Given the description of an element on the screen output the (x, y) to click on. 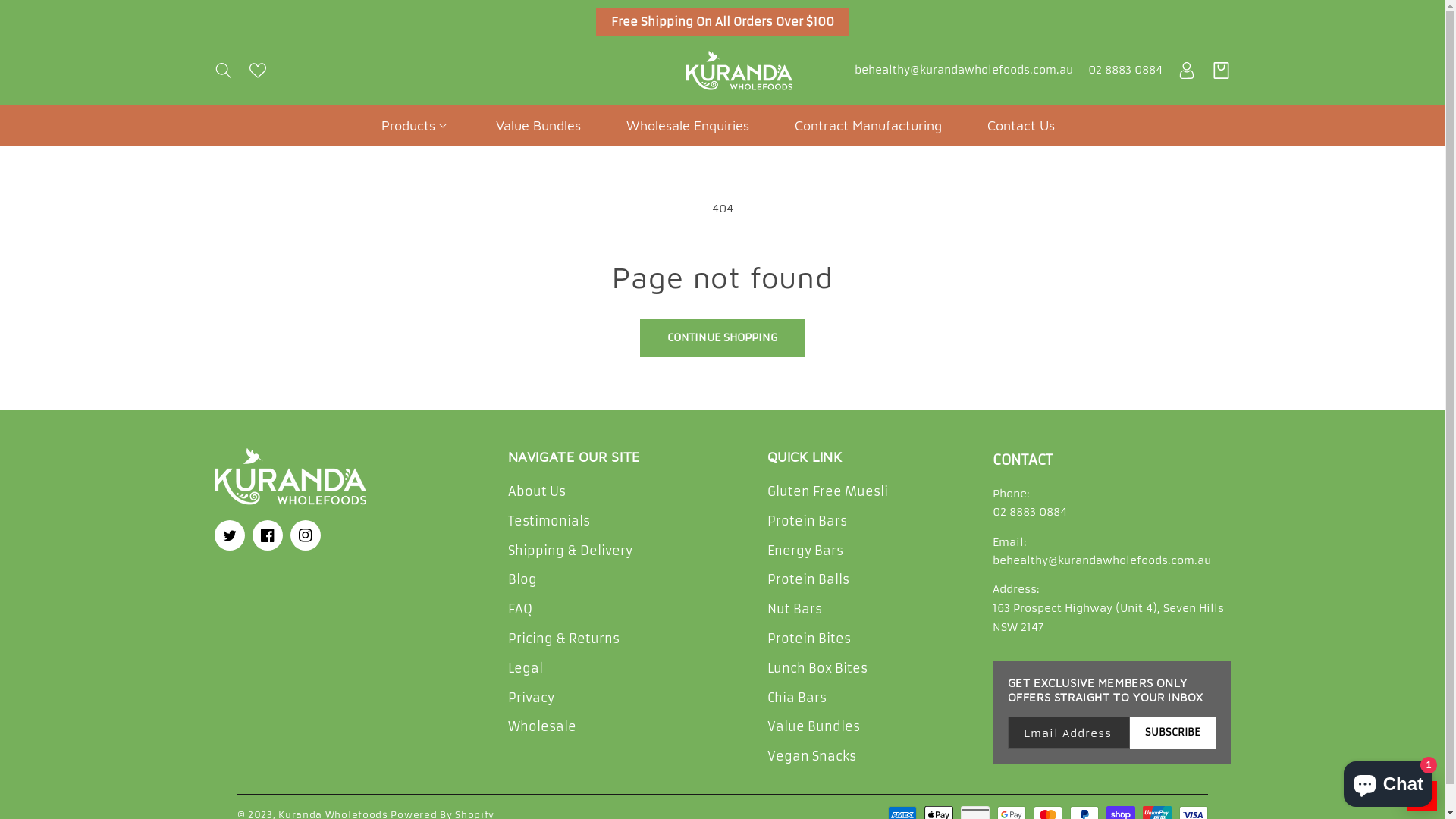
02 8883 0884 Element type: text (1028, 511)
Shopify online store chat Element type: hover (1388, 780)
Pricing & Returns Element type: text (563, 638)
Protein Balls Element type: text (808, 579)
Blog Element type: text (522, 579)
02 8883 0884 Element type: text (1124, 70)
behealthy@kurandawholefoods.com.au Element type: text (1100, 560)
Privacy Element type: text (531, 697)
MY WISHLIST Element type: text (1421, 796)
Gluten Free Muesli Element type: text (827, 493)
Log in Element type: text (1185, 70)
Legal Element type: text (525, 668)
About Us Element type: text (536, 493)
Value Bundles Element type: text (813, 726)
Instagram Element type: text (304, 535)
Wholesale Enquiries Element type: text (687, 125)
Wholesale Element type: text (542, 726)
Protein Bars Element type: text (807, 521)
Twitter Element type: text (228, 535)
FAQ Element type: text (520, 609)
Energy Bars Element type: text (805, 550)
Chia Bars Element type: text (796, 697)
Lunch Box Bites Element type: text (817, 668)
Cart Element type: text (1220, 70)
Contract Manufacturing Element type: text (867, 125)
Protein Bites Element type: text (808, 638)
Testimonials Element type: text (548, 521)
Facebook Element type: text (266, 535)
Nut Bars Element type: text (794, 609)
behealthy@kurandawholefoods.com.au Element type: text (962, 70)
CONTINUE SHOPPING Element type: text (722, 338)
Vegan Snacks Element type: text (811, 756)
Value Bundles Element type: text (538, 125)
SUBSCRIBE Element type: text (1172, 732)
Shipping & Delivery Element type: text (570, 550)
Contact Us Element type: text (1020, 125)
